Given the description of an element on the screen output the (x, y) to click on. 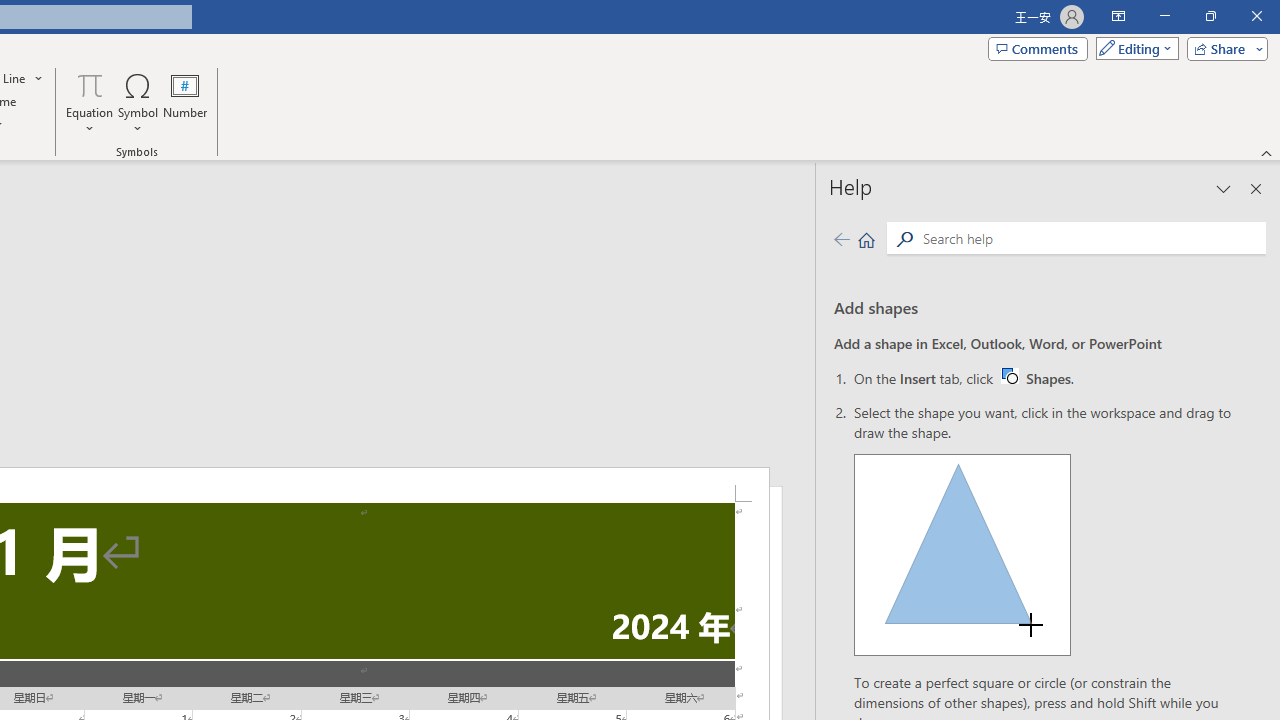
Drawing a shape (962, 554)
Previous page (841, 238)
Symbol (138, 102)
Number... (185, 102)
